Given the description of an element on the screen output the (x, y) to click on. 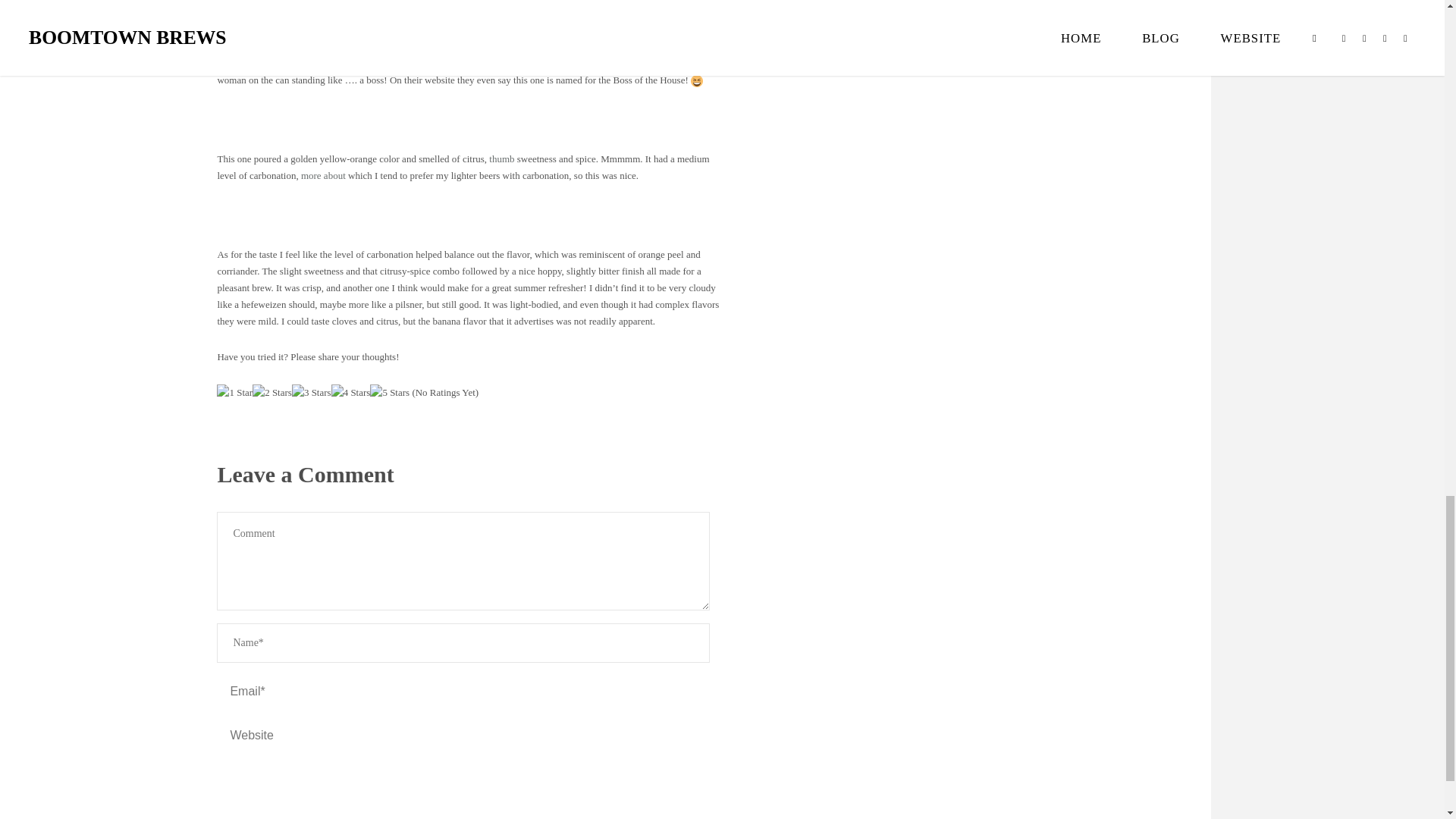
5 Stars (389, 392)
buy ed pills (323, 174)
1 Star (233, 392)
4 Stars (351, 392)
3 Stars (311, 392)
thumb (501, 158)
2 Stars (271, 392)
more about (323, 174)
website like this (459, 46)
